Given the description of an element on the screen output the (x, y) to click on. 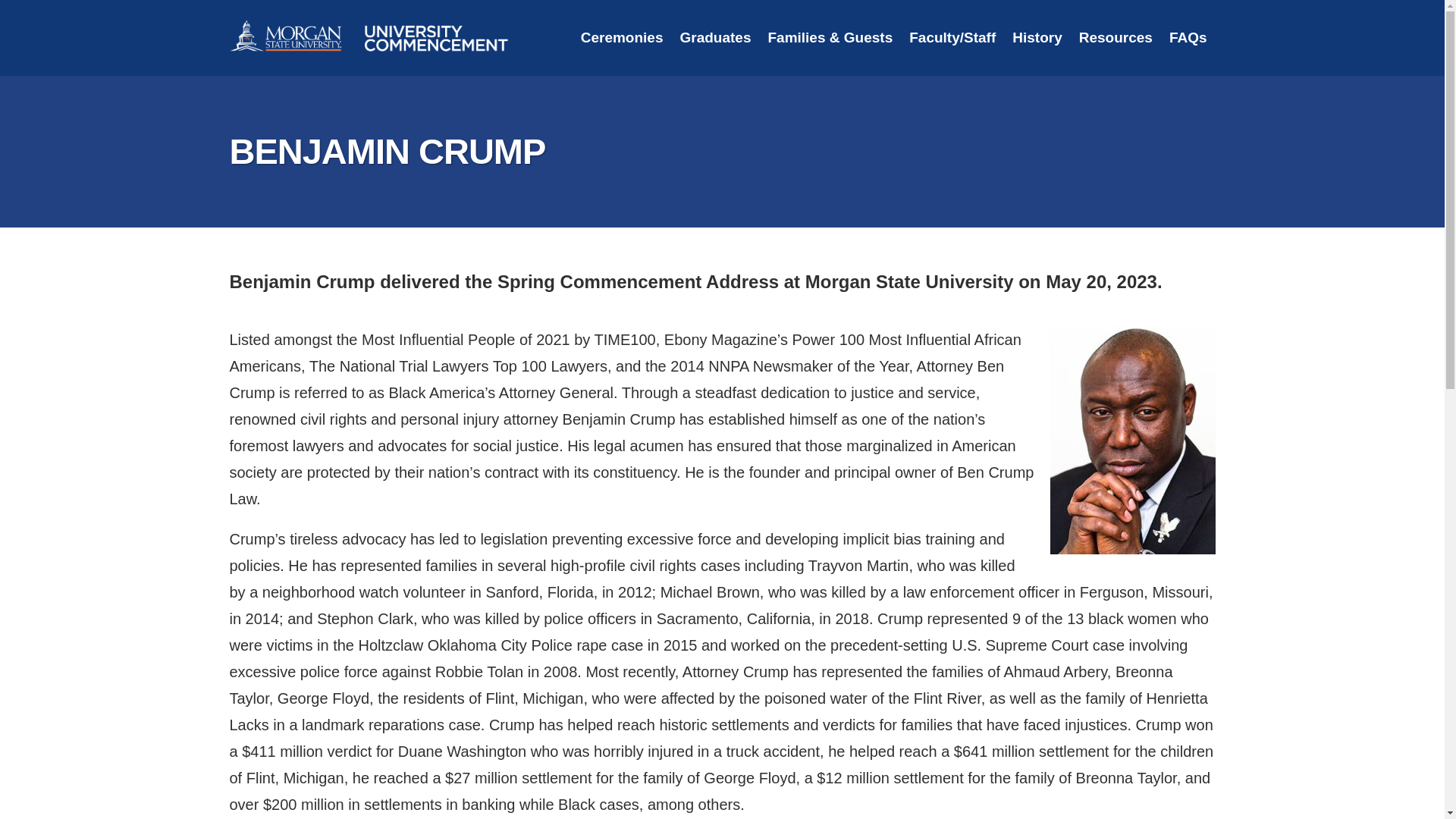
Graduates (714, 38)
Ceremonies (621, 38)
Resources (1115, 38)
